Given the description of an element on the screen output the (x, y) to click on. 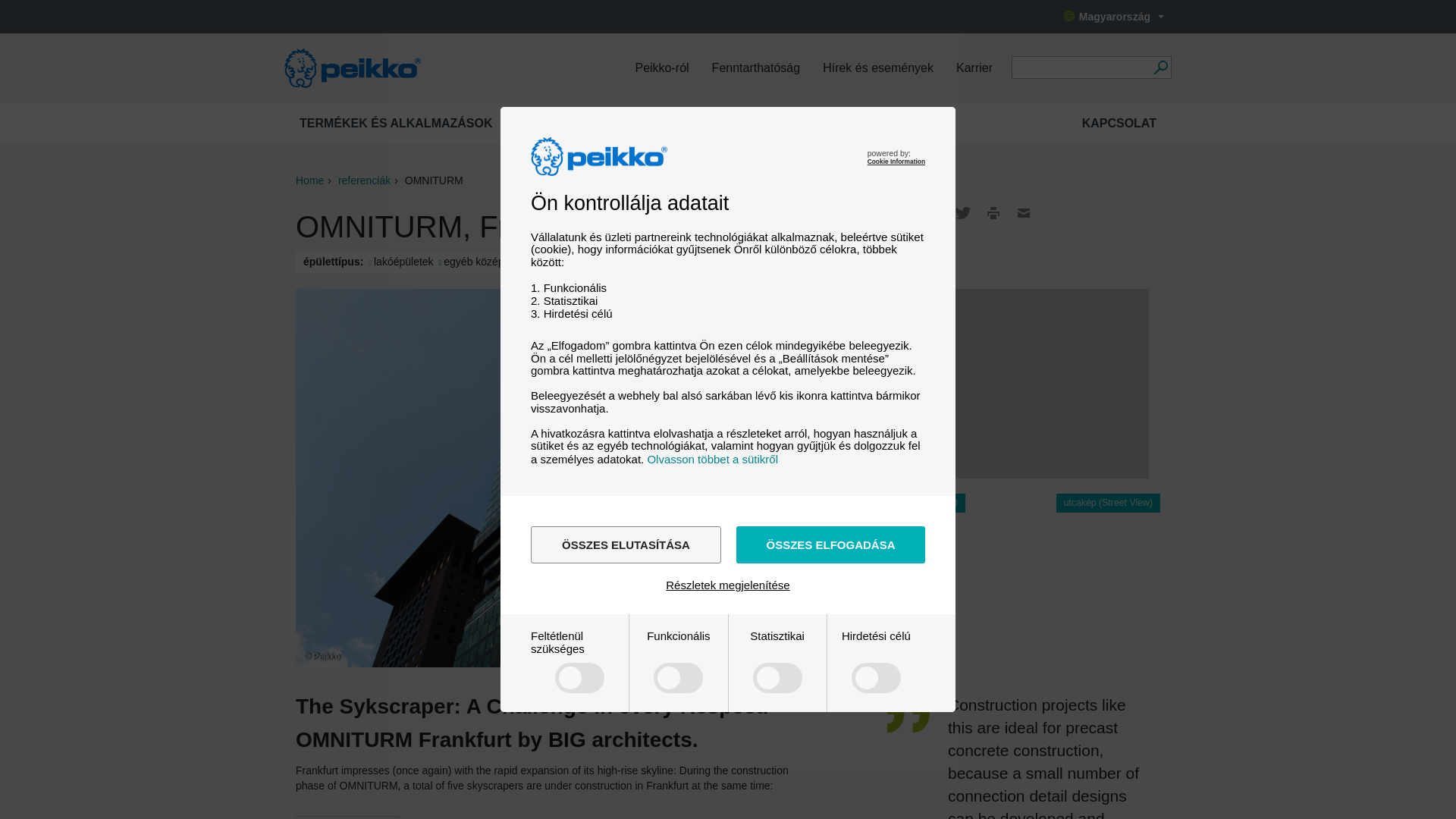
Cookie Information (895, 161)
Email link (1023, 212)
